Given the description of an element on the screen output the (x, y) to click on. 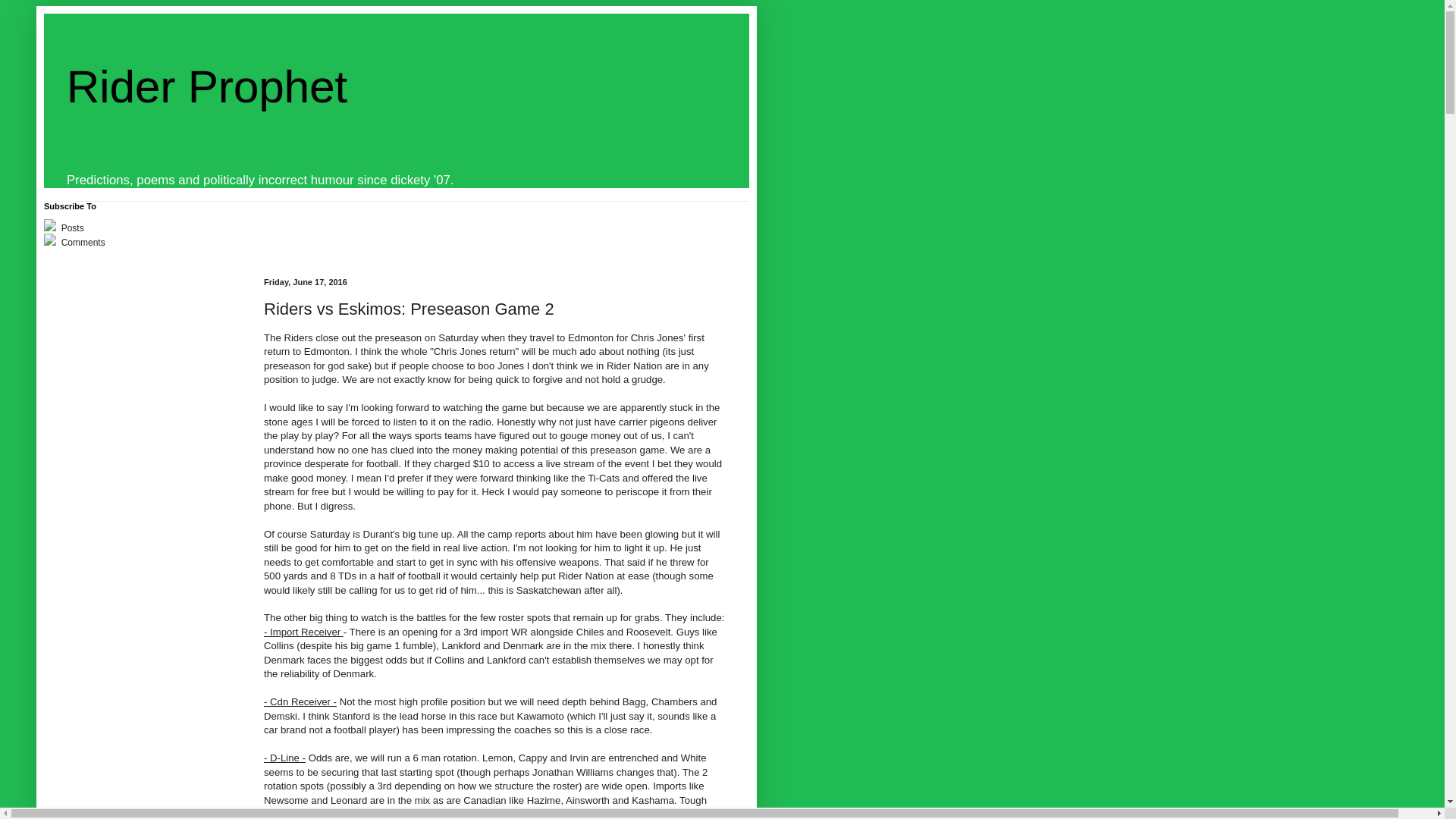
Rider Prophet (206, 86)
